Given the description of an element on the screen output the (x, y) to click on. 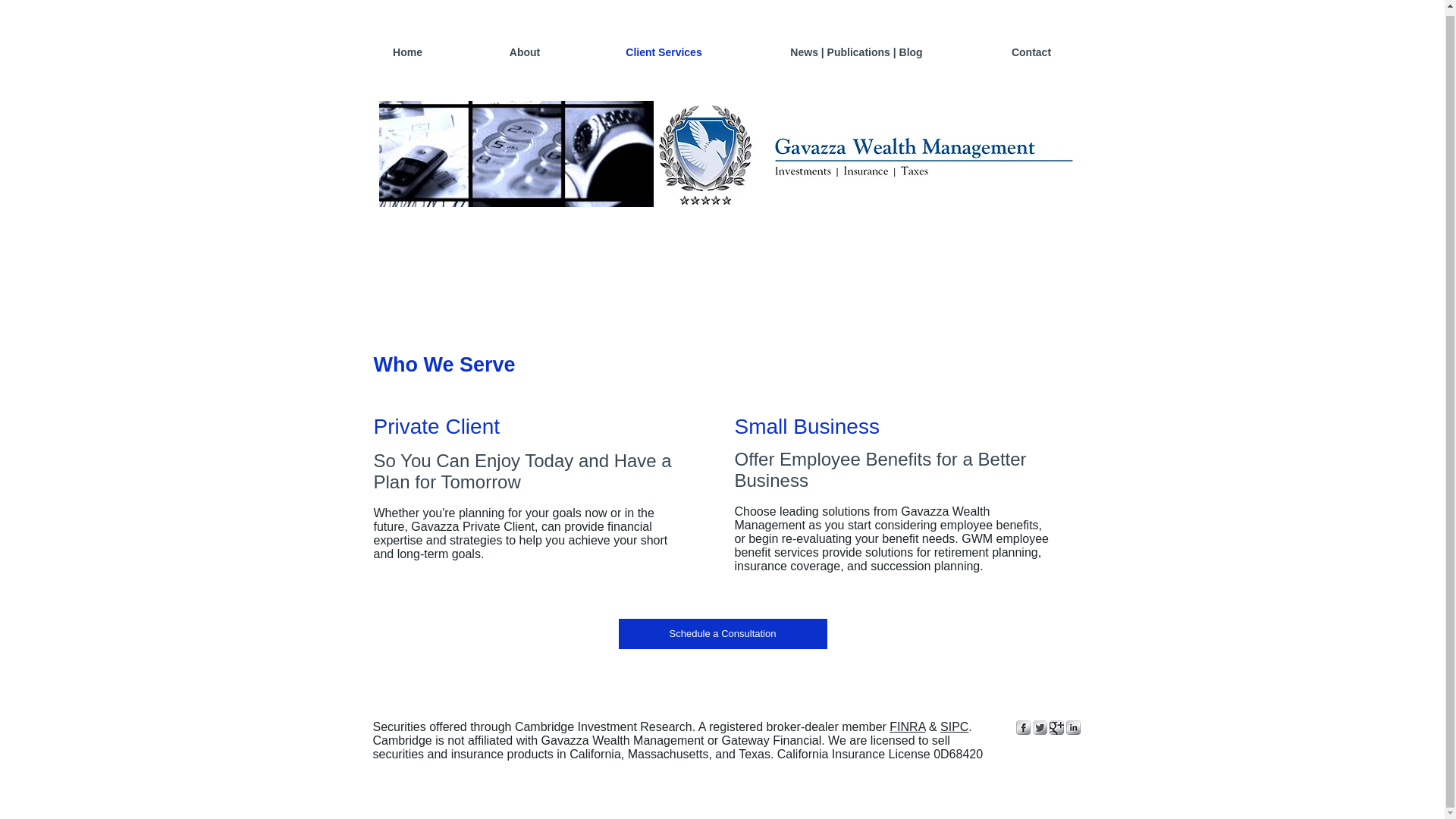
FINRA (906, 726)
Home (407, 52)
Contact (1031, 52)
Schedule a Consultation (722, 634)
About (524, 52)
SIPC (954, 726)
Client Services (663, 52)
